Given the description of an element on the screen output the (x, y) to click on. 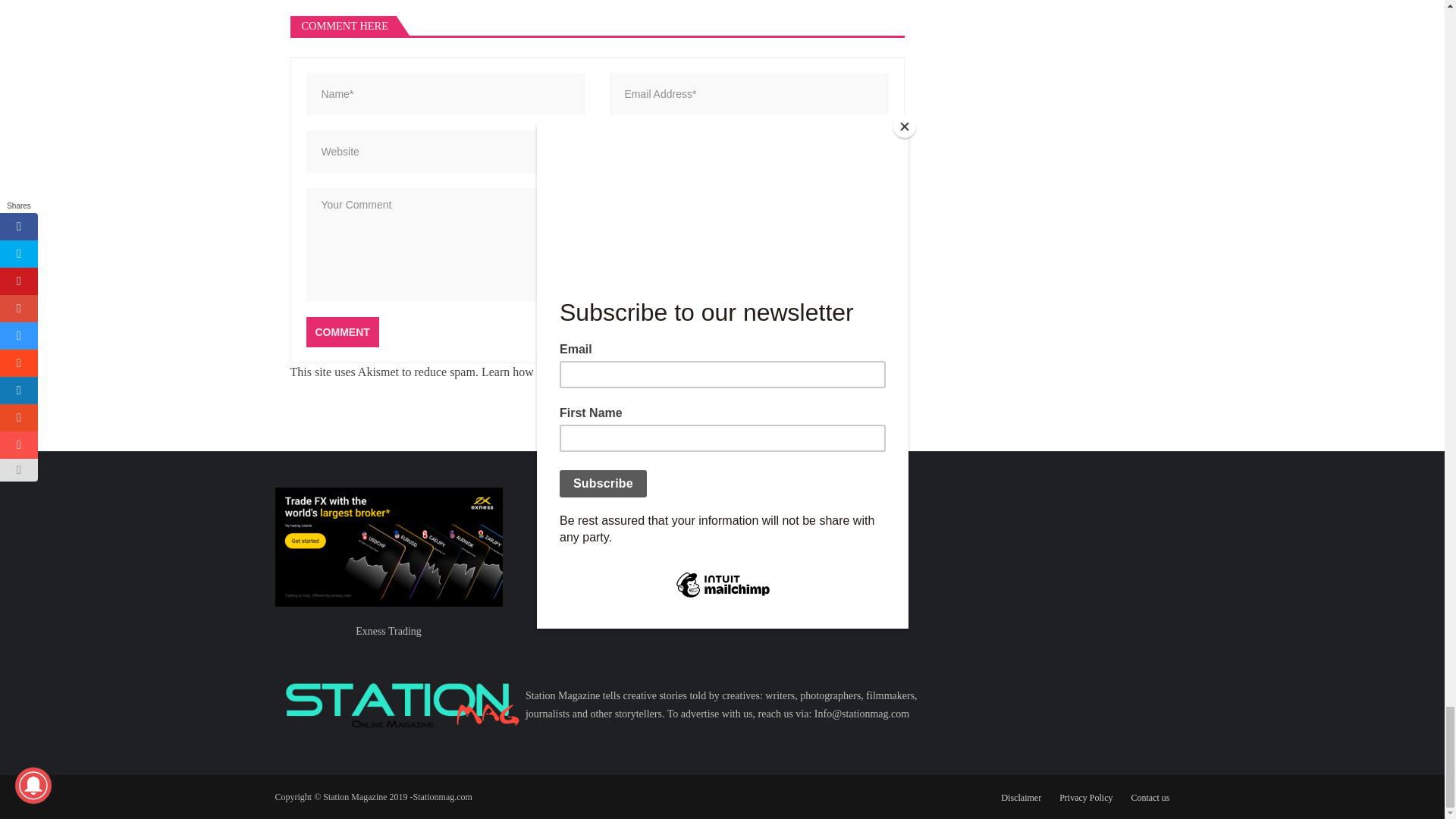
Comment (341, 331)
